Given the description of an element on the screen output the (x, y) to click on. 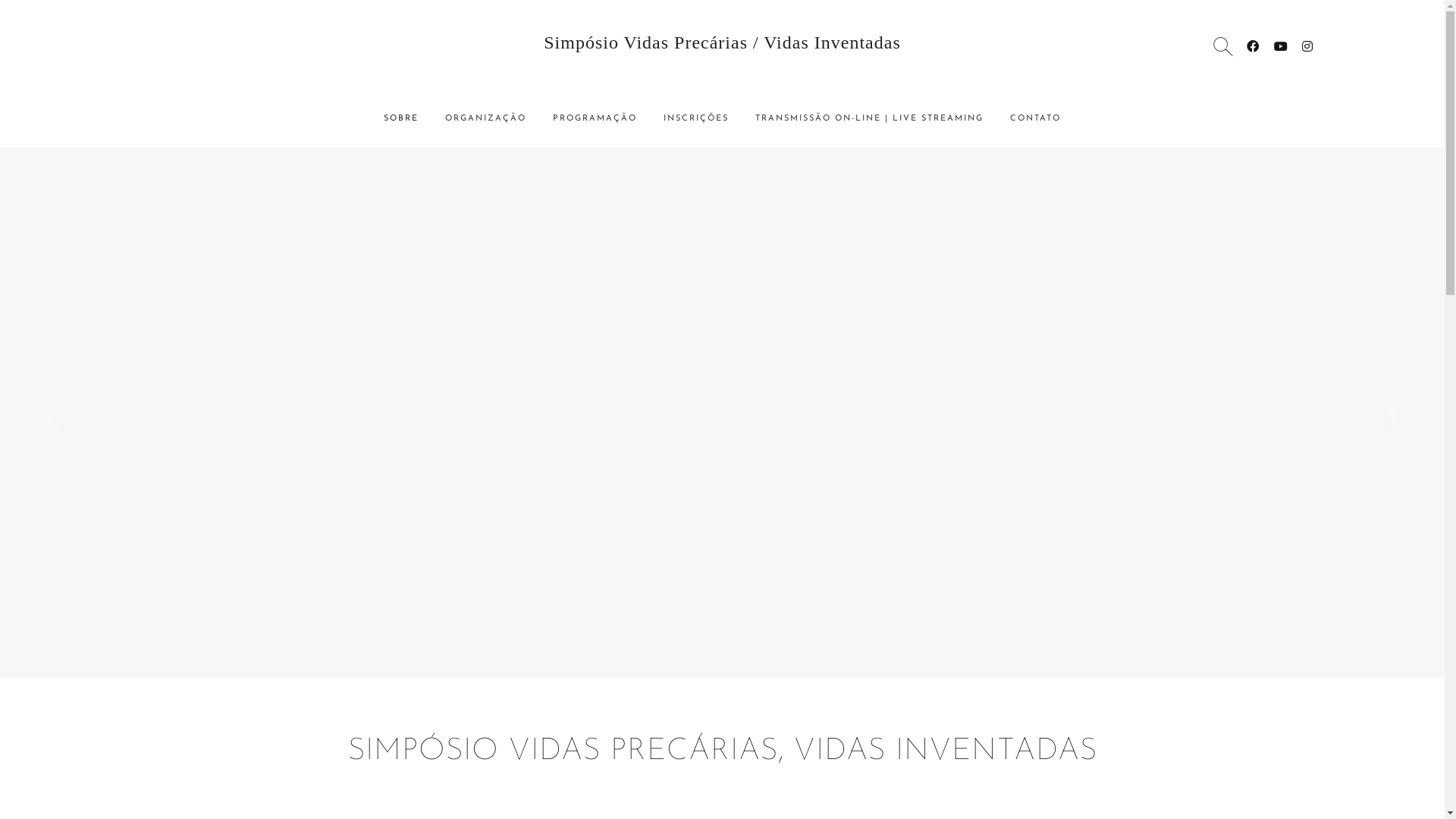
CONTATO Element type: text (1035, 119)
SOBRE Element type: text (400, 119)
